Given the description of an element on the screen output the (x, y) to click on. 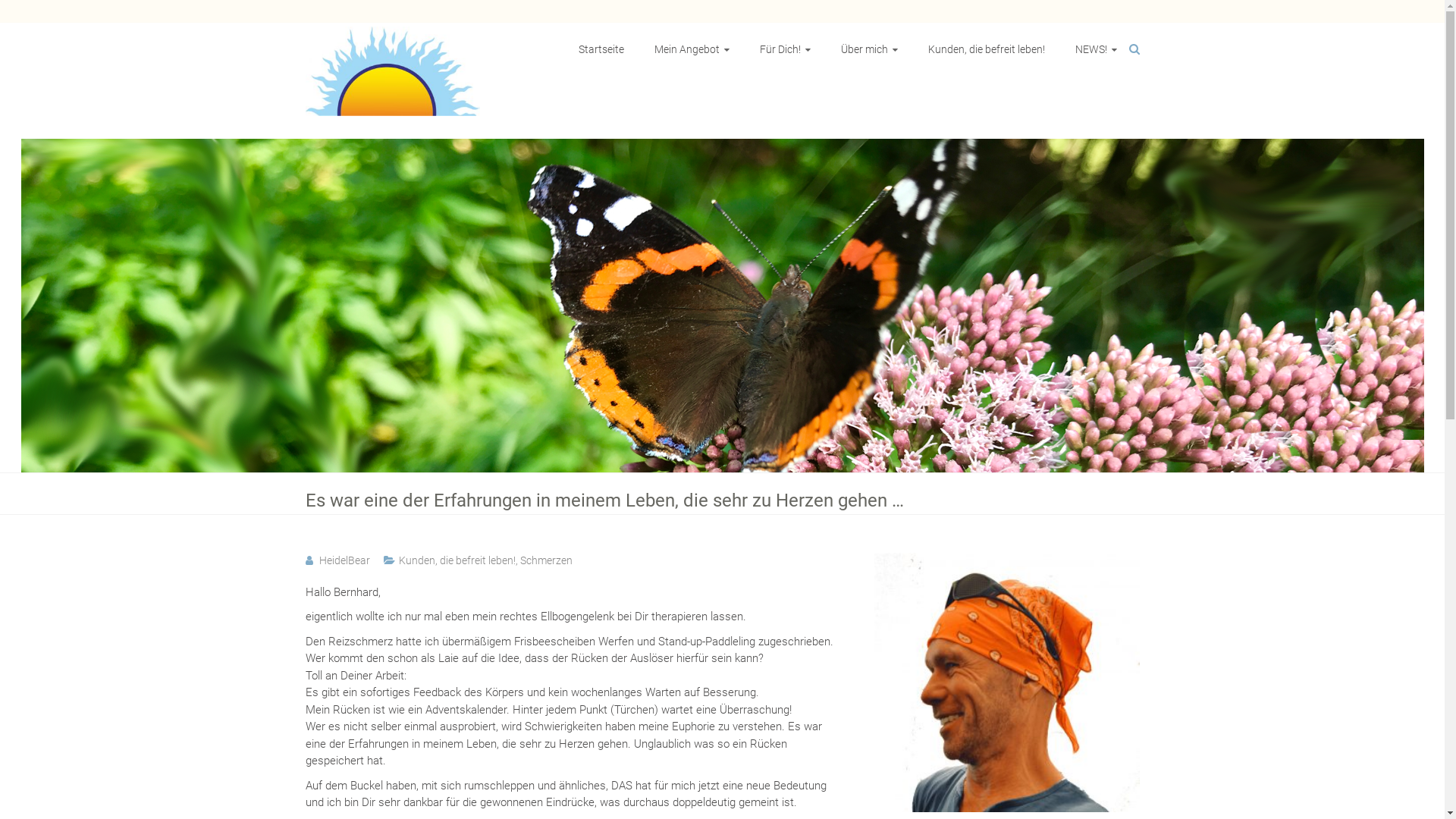
NEWS! Element type: text (1096, 48)
Kunden, die befreit leben! Element type: text (456, 560)
Mein Angebot Element type: text (690, 48)
Kunden, die befreit leben! Element type: text (986, 48)
HeidelBear Element type: text (343, 560)
Schmerzen Element type: text (546, 560)
Befreit leben! Element type: text (379, 156)
Startseite Element type: text (600, 48)
